Given the description of an element on the screen output the (x, y) to click on. 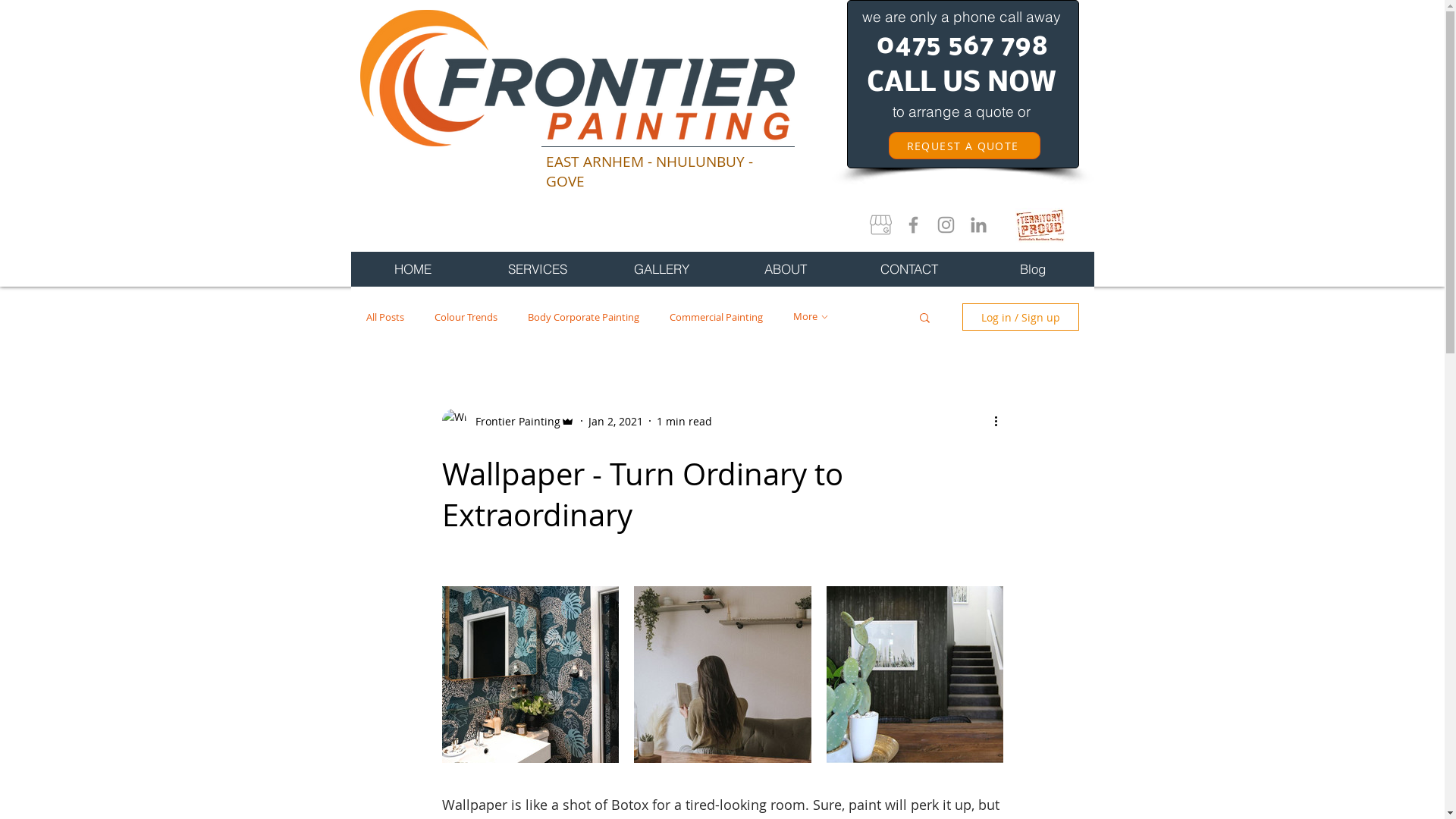
Log in / Sign up Element type: text (1019, 316)
HOME Element type: text (412, 268)
CONTACT Element type: text (907, 268)
Colour Trends Element type: text (464, 316)
REQUEST A QUOTE Element type: text (964, 145)
GALLERY Element type: text (660, 268)
ABOUT Element type: text (785, 268)
Commercial Painting Element type: text (715, 316)
All Posts Element type: text (384, 316)
SERVICES Element type: text (536, 268)
Territory Proud Painting Service Element type: hover (1039, 224)
Frontier Painting Darwin's best painting service Element type: hover (576, 77)
Blog Element type: text (1032, 268)
Body Corporate Painting Element type: text (583, 316)
